Given the description of an element on the screen output the (x, y) to click on. 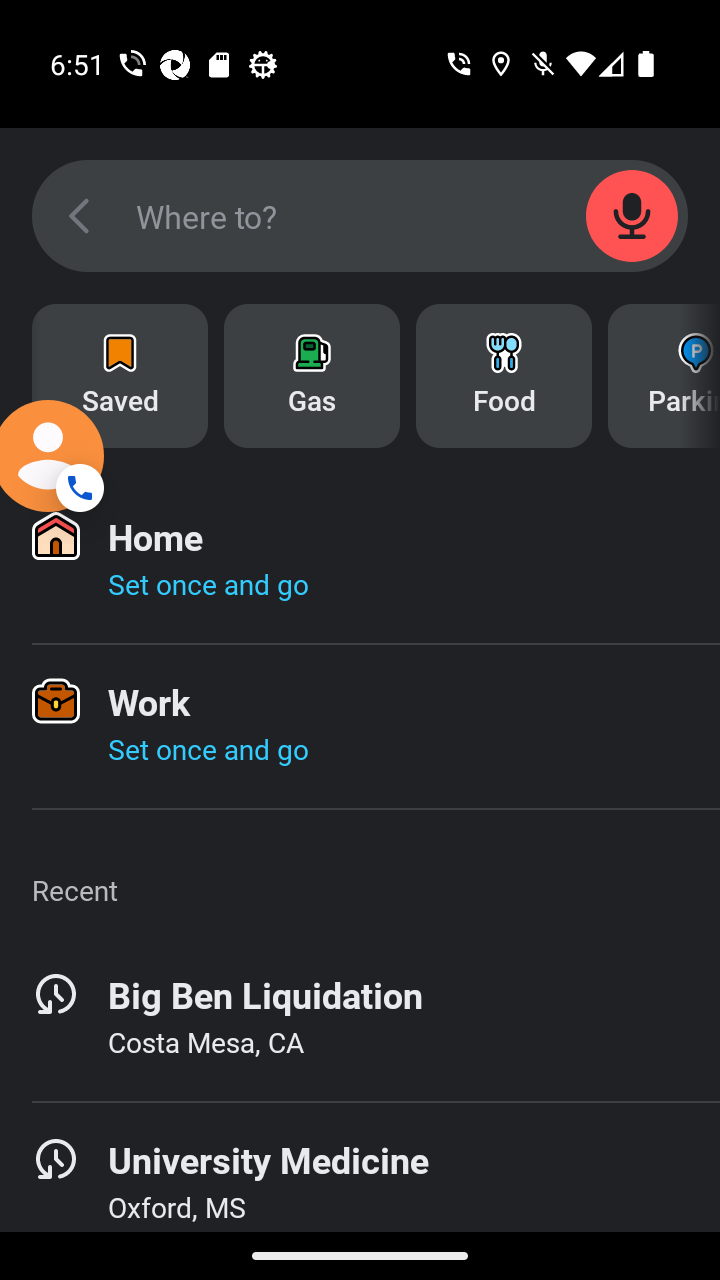
SEARCH_SCREEN_SEARCH_FIELD Where to? (359, 215)
Saved (119, 376)
Gas (311, 376)
Food (503, 376)
Parking (663, 376)
Home Set once and go (360, 561)
Work Set once and go (360, 726)
Big Ben Liquidation Costa Mesa, CA (360, 1019)
University Medicine Oxford, MS (360, 1167)
Home (360, 1262)
